Given the description of an element on the screen output the (x, y) to click on. 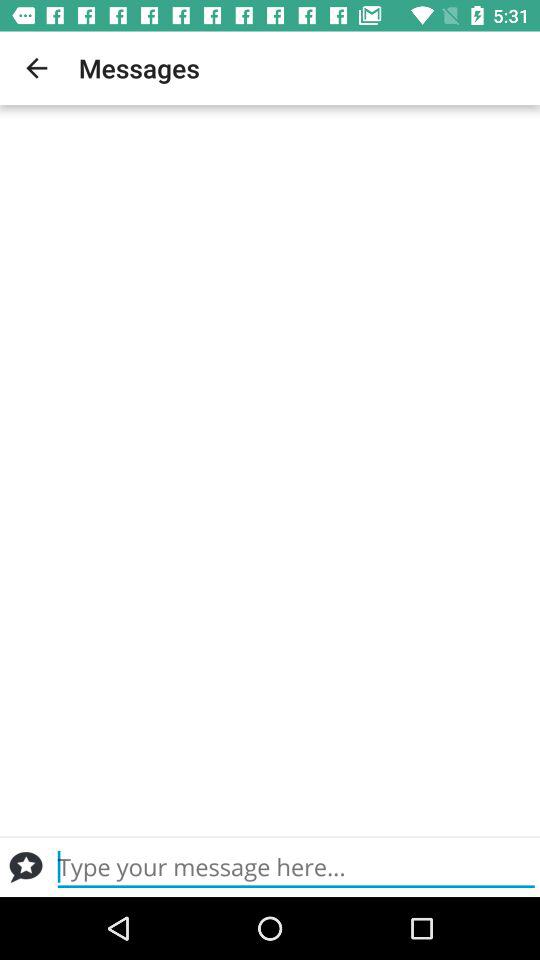
choose item at the bottom left corner (26, 867)
